Given the description of an element on the screen output the (x, y) to click on. 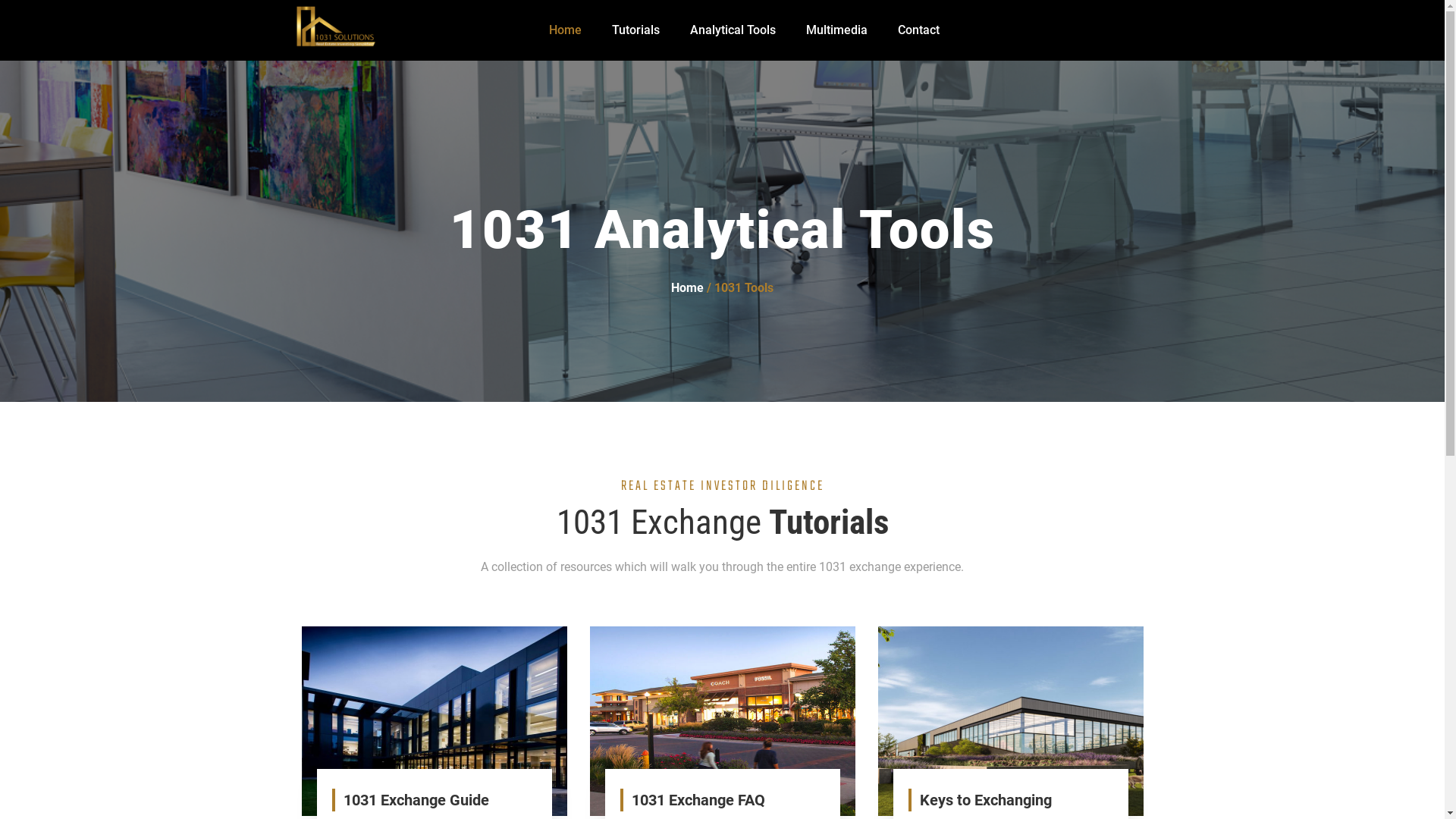
Tutorials Element type: text (635, 30)
Home Element type: text (565, 30)
Multimedia Element type: text (836, 30)
Analytical Tools Element type: text (732, 30)
Contact Element type: text (918, 30)
Home Element type: text (687, 287)
